Given the description of an element on the screen output the (x, y) to click on. 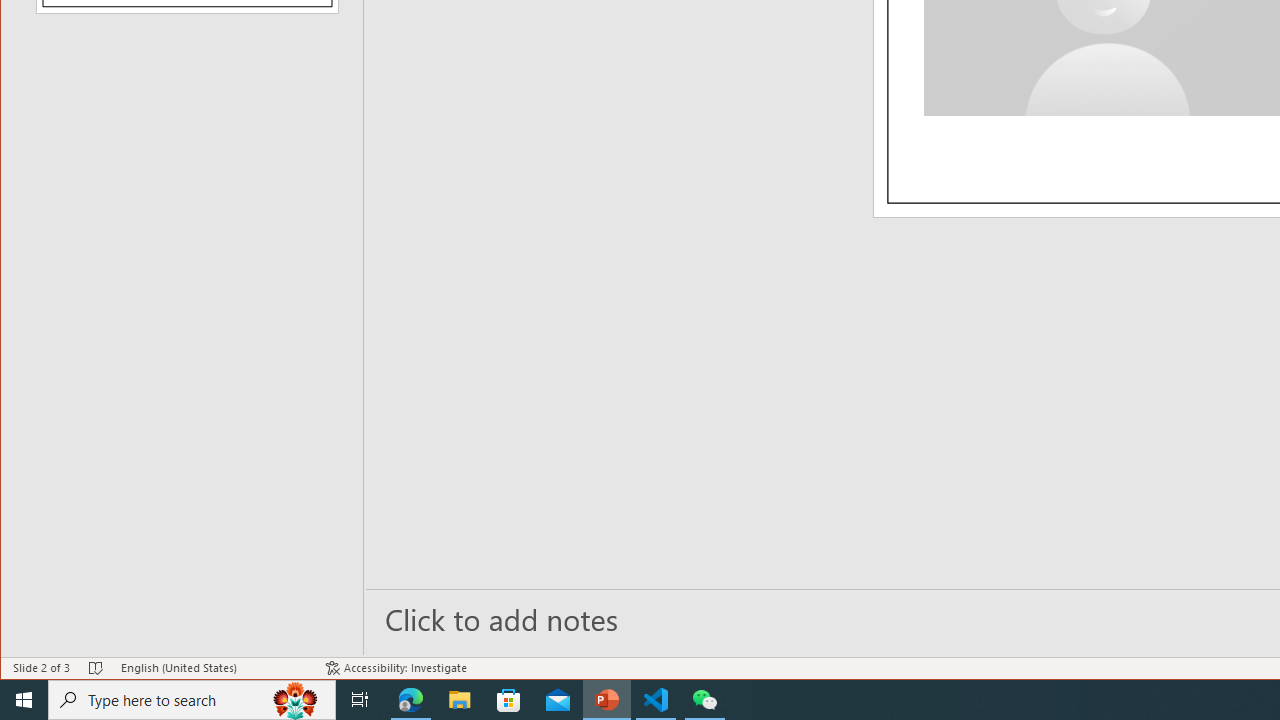
Search highlights icon opens search home window (295, 699)
Visual Studio Code - 1 running window (656, 699)
WeChat - 1 running window (704, 699)
File Explorer (460, 699)
Microsoft Store (509, 699)
PowerPoint - 1 running window (607, 699)
Task View (359, 699)
Type here to search (191, 699)
Start (24, 699)
Microsoft Edge - 1 running window (411, 699)
